Given the description of an element on the screen output the (x, y) to click on. 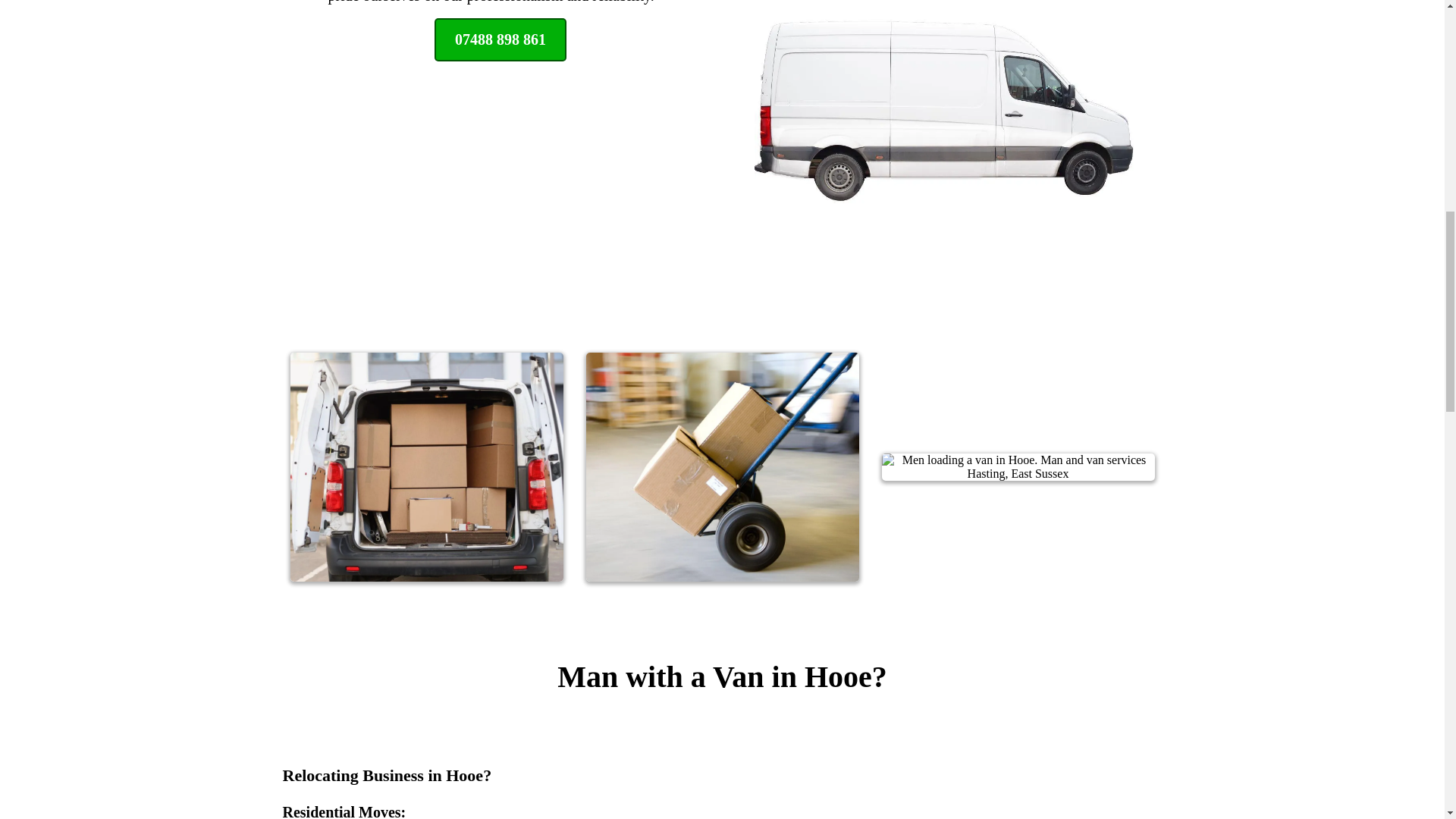
07488 898 861 (499, 39)
